Given the description of an element on the screen output the (x, y) to click on. 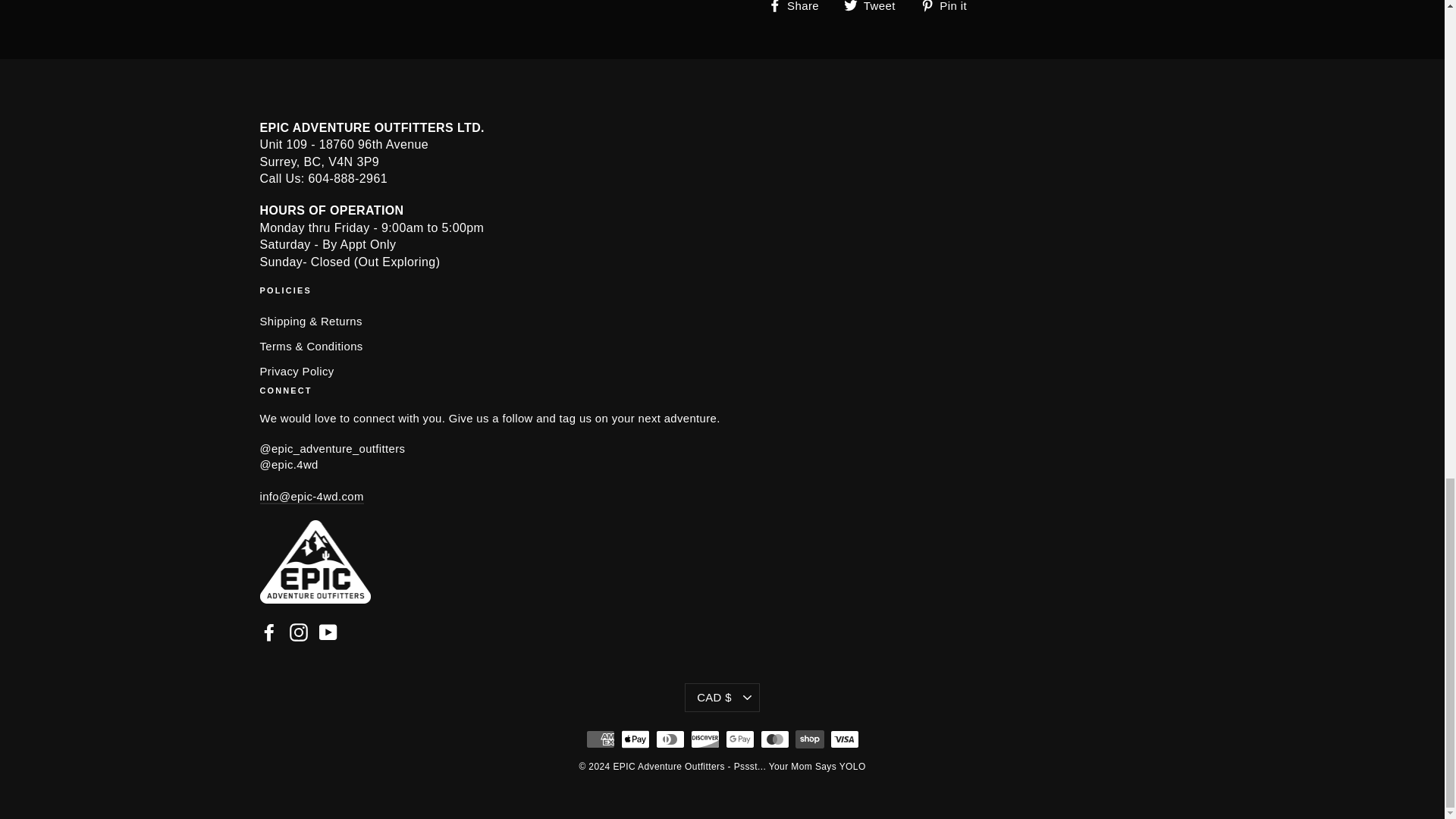
Diners Club (669, 739)
Share on Facebook (798, 6)
Mastercard (774, 739)
Discover (704, 739)
EPIC Adventure Outfitters on Instagram (298, 632)
EPIC Adventure Outfitters on YouTube (327, 632)
Tweet on Twitter (875, 6)
American Express (599, 739)
Google Pay (739, 739)
Pin on Pinterest (949, 6)
